Given the description of an element on the screen output the (x, y) to click on. 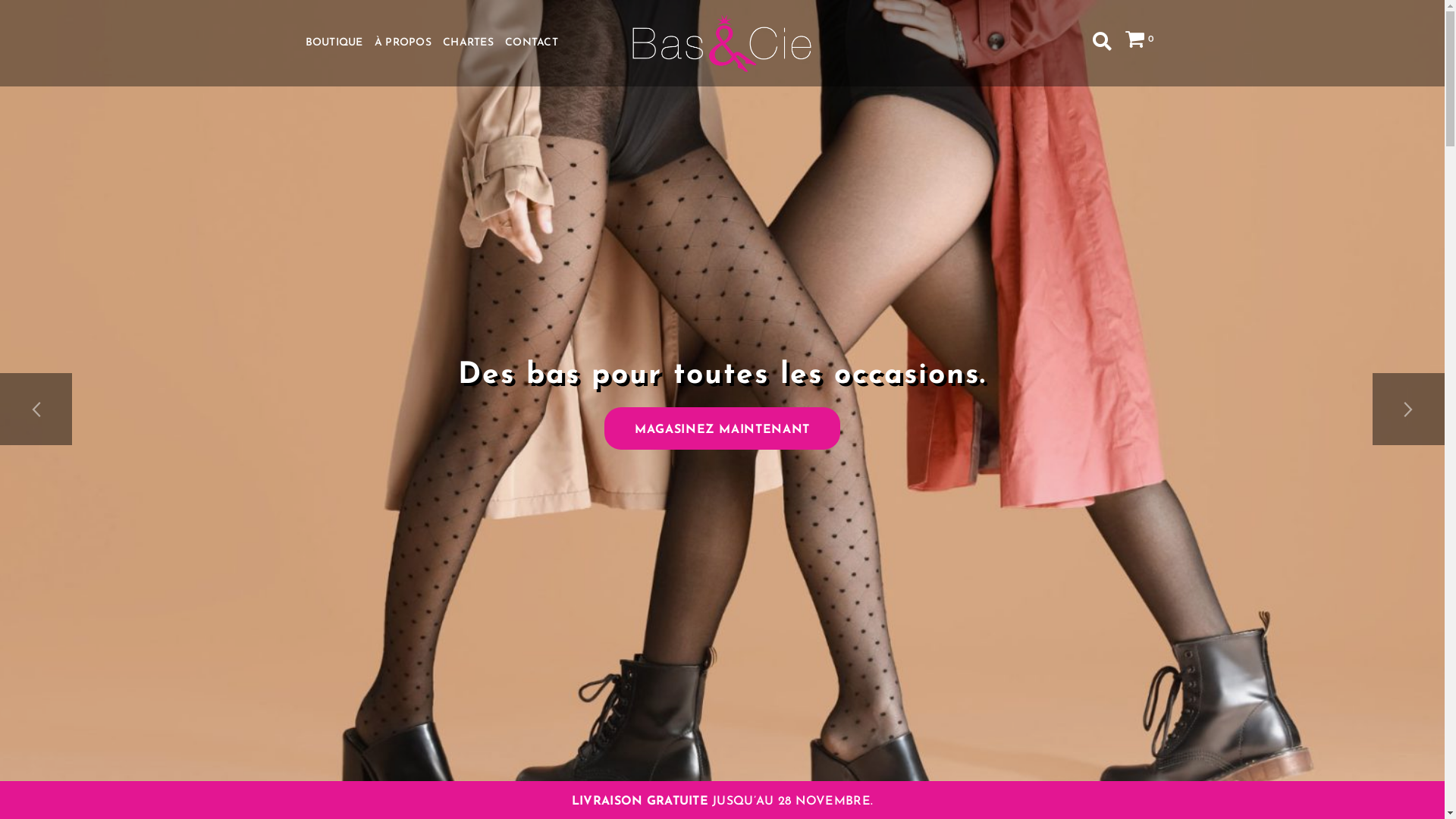
CHARTES Element type: text (467, 42)
MAGASINEZ MAINTENANT Element type: text (722, 428)
CONTACT Element type: text (531, 42)
BOUTIQUE Element type: text (333, 42)
0 Element type: text (1139, 39)
